Given the description of an element on the screen output the (x, y) to click on. 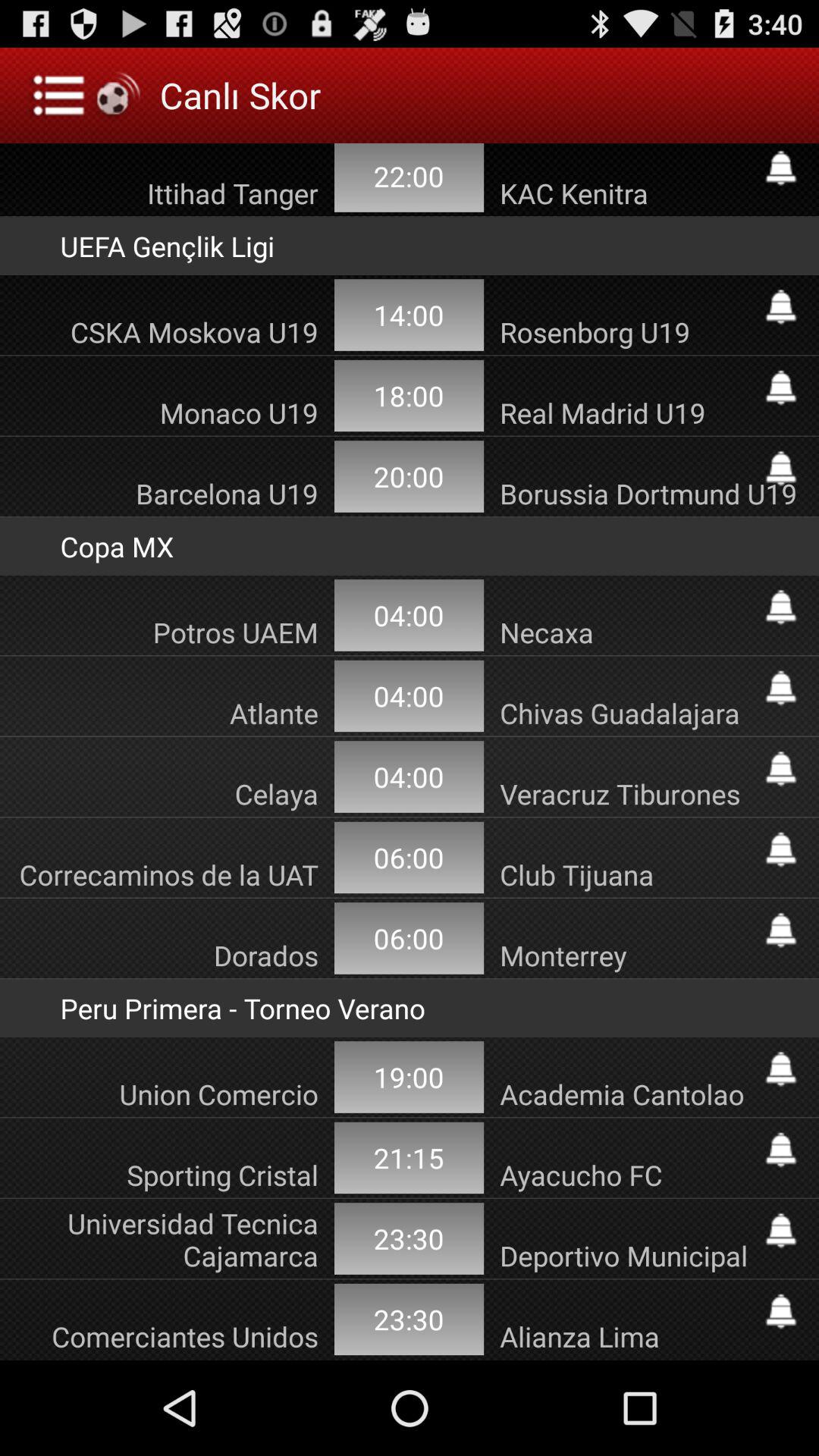
turn on notification for game (780, 1311)
